Given the description of an element on the screen output the (x, y) to click on. 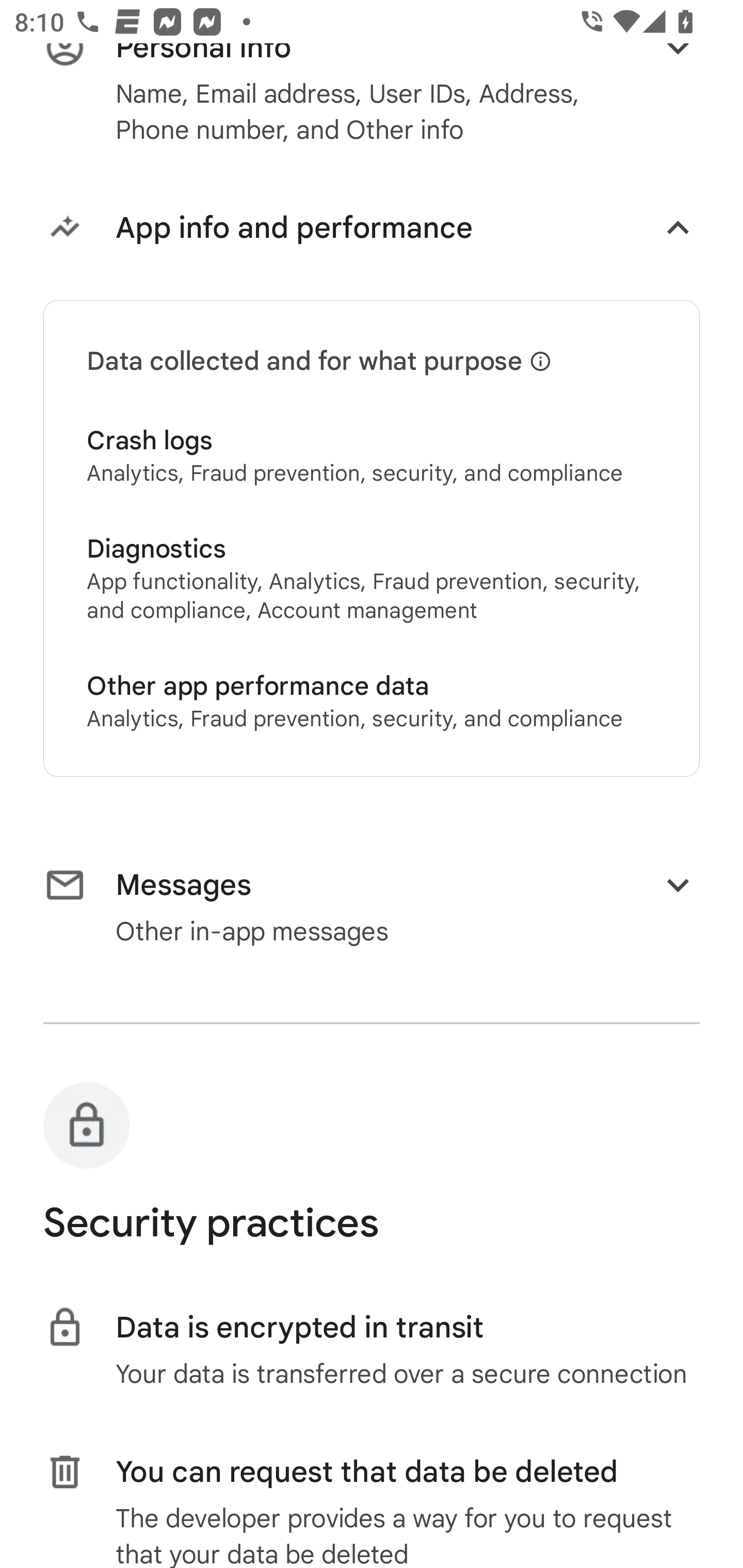
heading App info and performance Collapse button (371, 231)
